Given the description of an element on the screen output the (x, y) to click on. 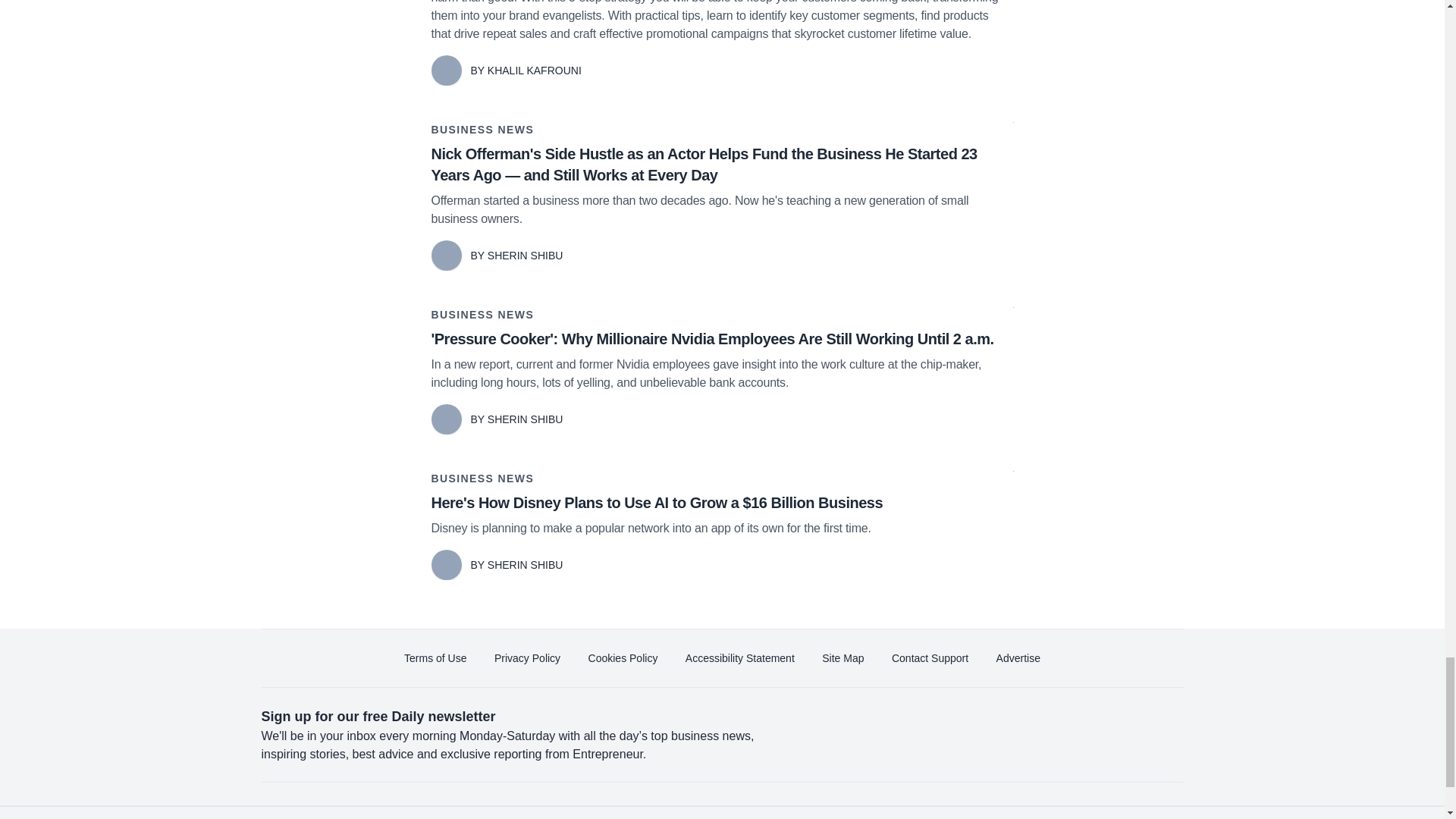
facebook (952, 809)
instagram (1121, 809)
linkedin (1037, 809)
youtube (1079, 809)
twitter (994, 809)
rss (1164, 809)
